Given the description of an element on the screen output the (x, y) to click on. 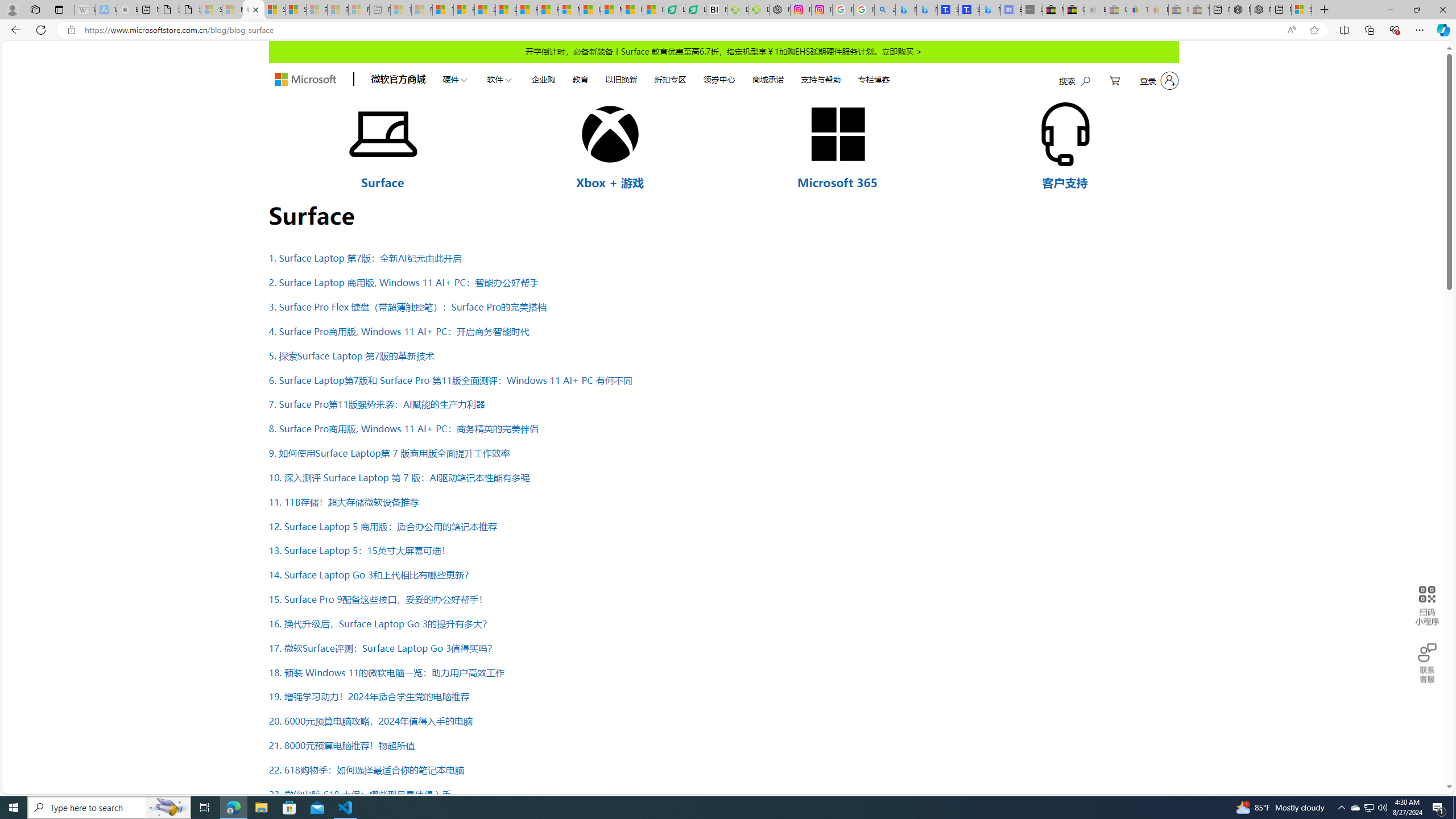
Microsoft Bing Travel - Shangri-La Hotel Bangkok (990, 9)
Surface (382, 182)
